Given the description of an element on the screen output the (x, y) to click on. 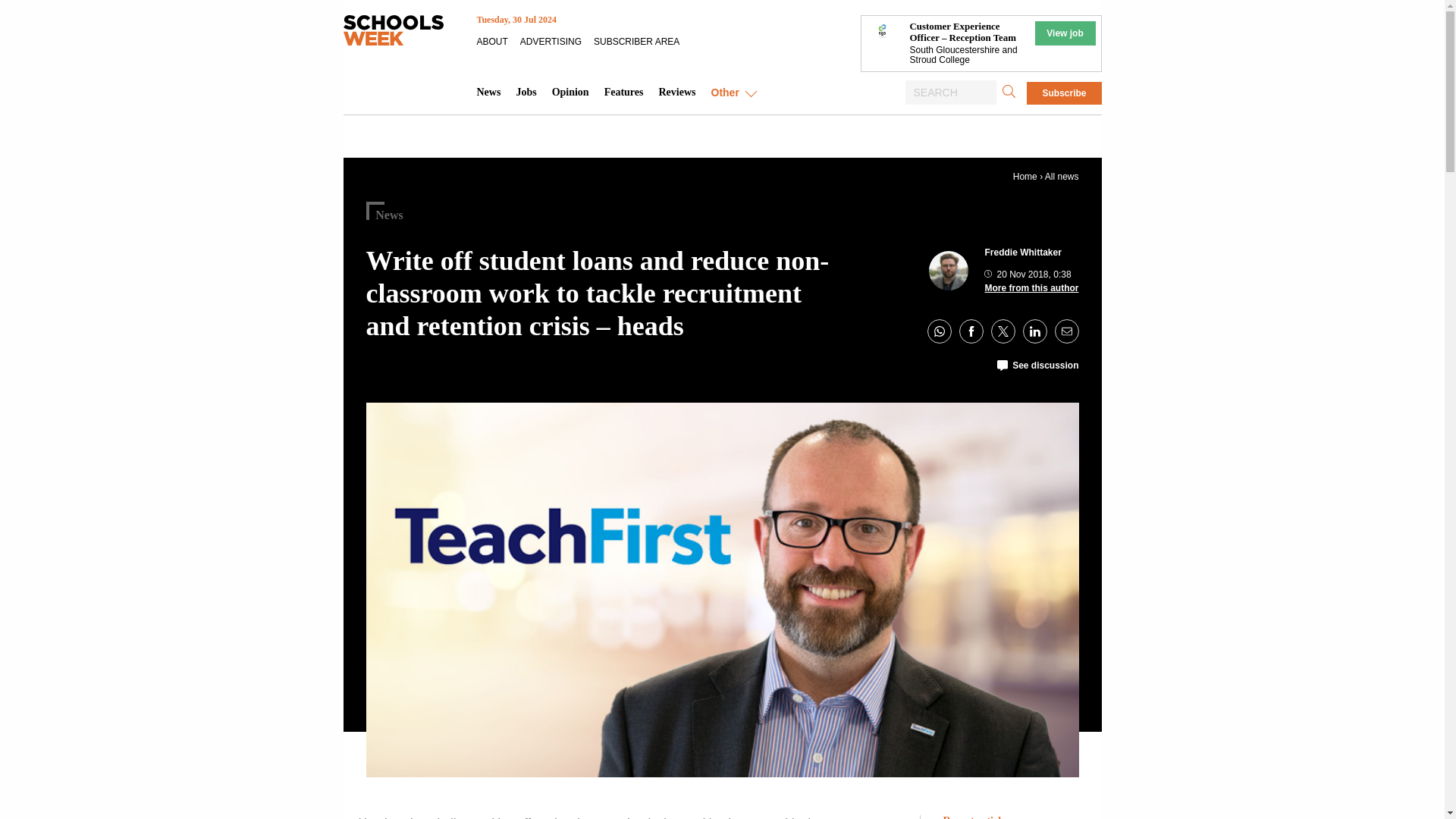
Home (1024, 176)
ABOUT (497, 41)
All news (1061, 176)
ADVERTISING (556, 41)
Posts by Freddie Whittaker (1022, 252)
